Given the description of an element on the screen output the (x, y) to click on. 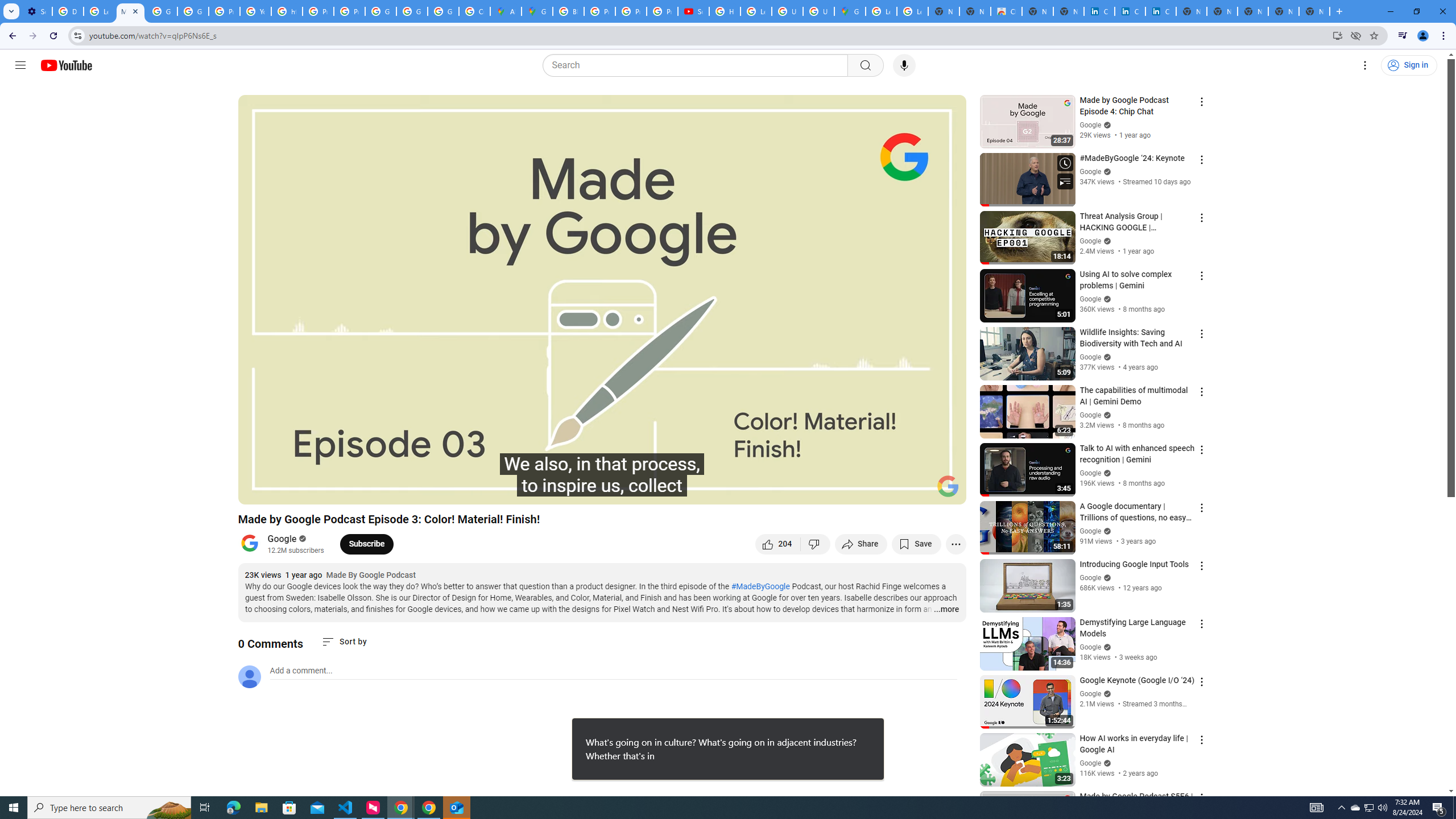
How Chrome protects your passwords - Google Chrome Help (724, 11)
Privacy Help Center - Policies Help (631, 11)
Default profile photo (248, 676)
Share (861, 543)
Verified (1106, 762)
Google Maps (849, 11)
New Tab (1314, 11)
